Given the description of an element on the screen output the (x, y) to click on. 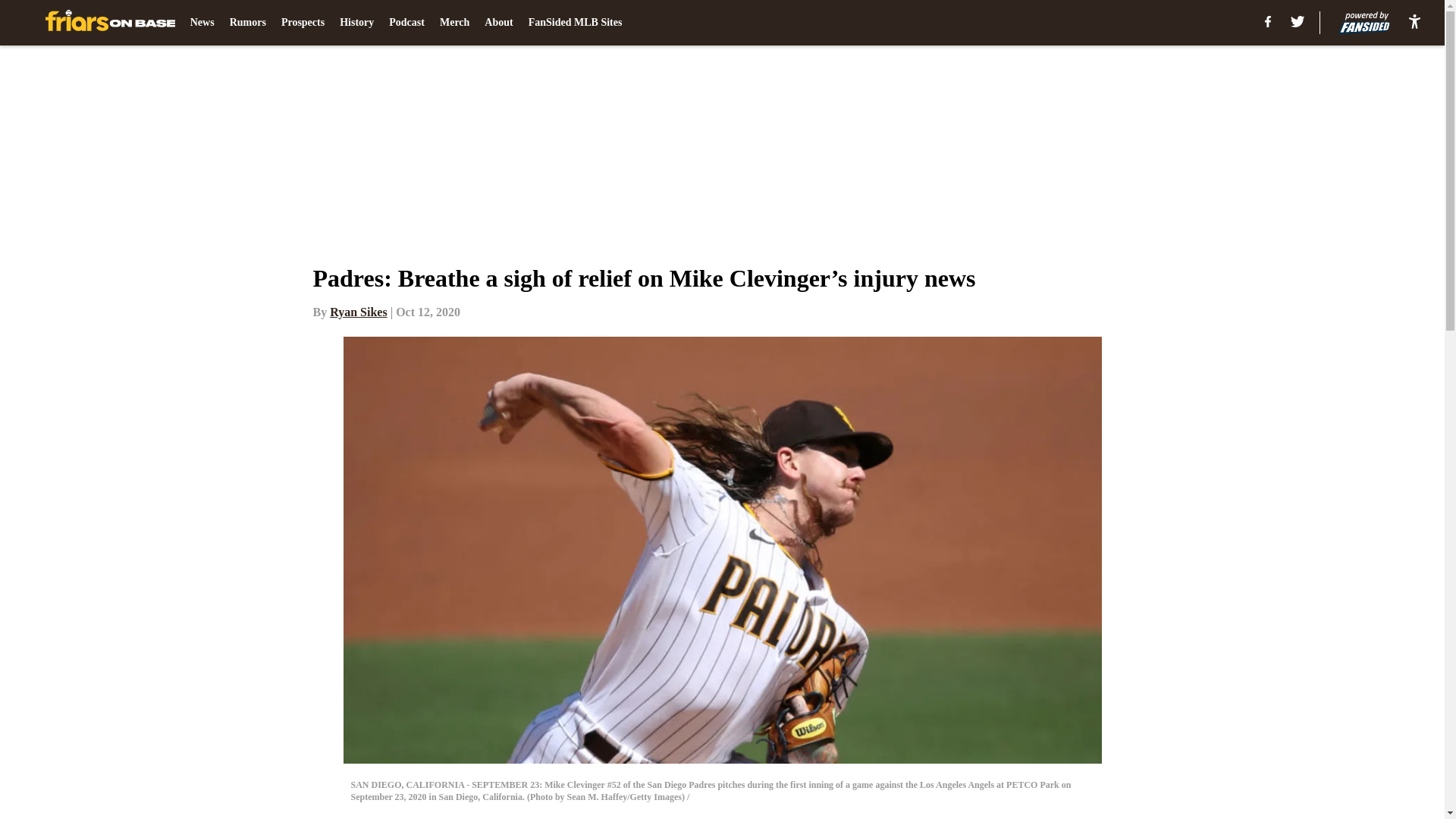
FanSided MLB Sites (575, 22)
Prospects (302, 22)
About (498, 22)
Merch (453, 22)
Ryan Sikes (358, 311)
Rumors (248, 22)
Podcast (406, 22)
History (356, 22)
News (202, 22)
